Given the description of an element on the screen output the (x, y) to click on. 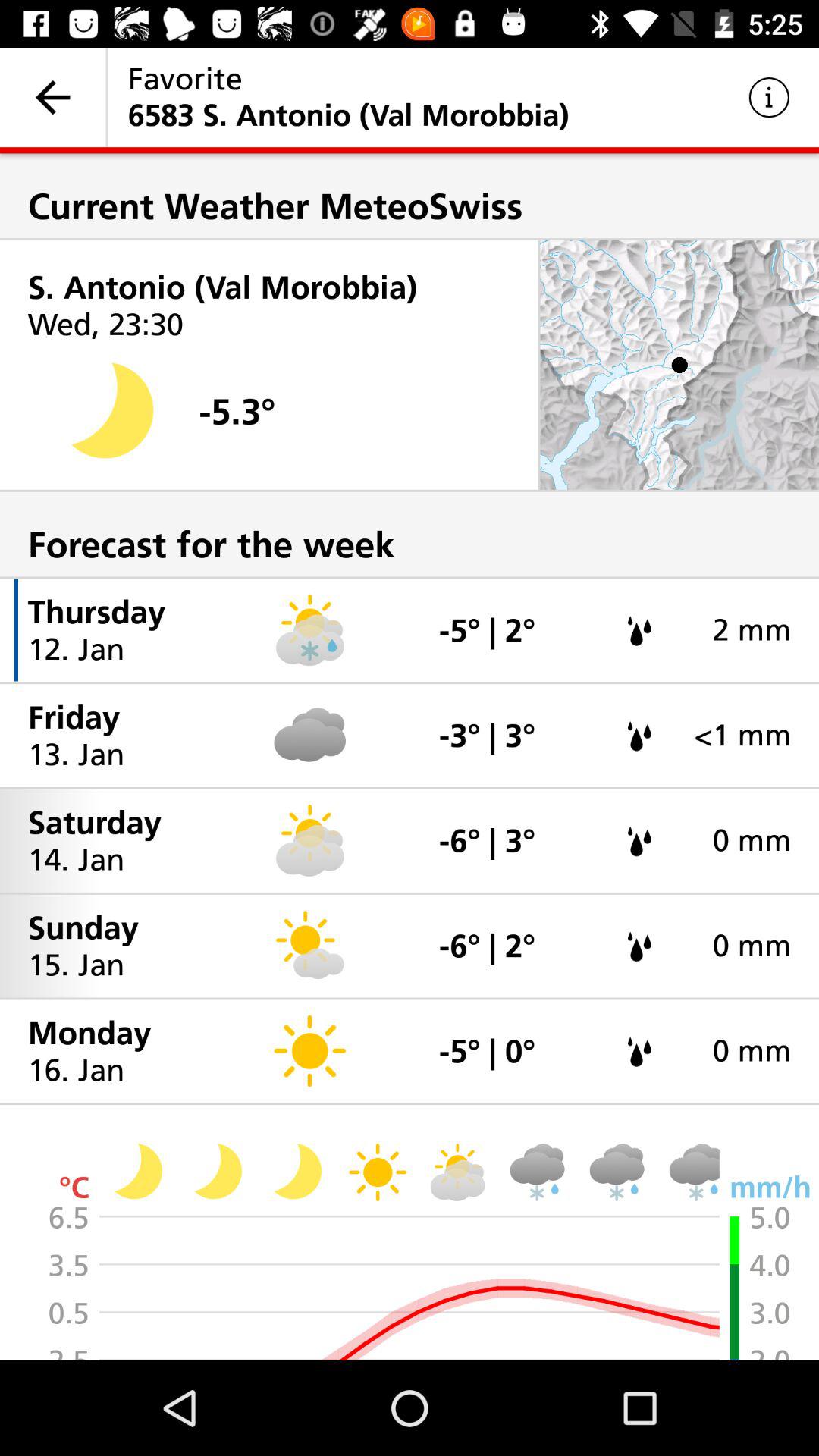
choose the item to the right of favorite icon (769, 97)
